Given the description of an element on the screen output the (x, y) to click on. 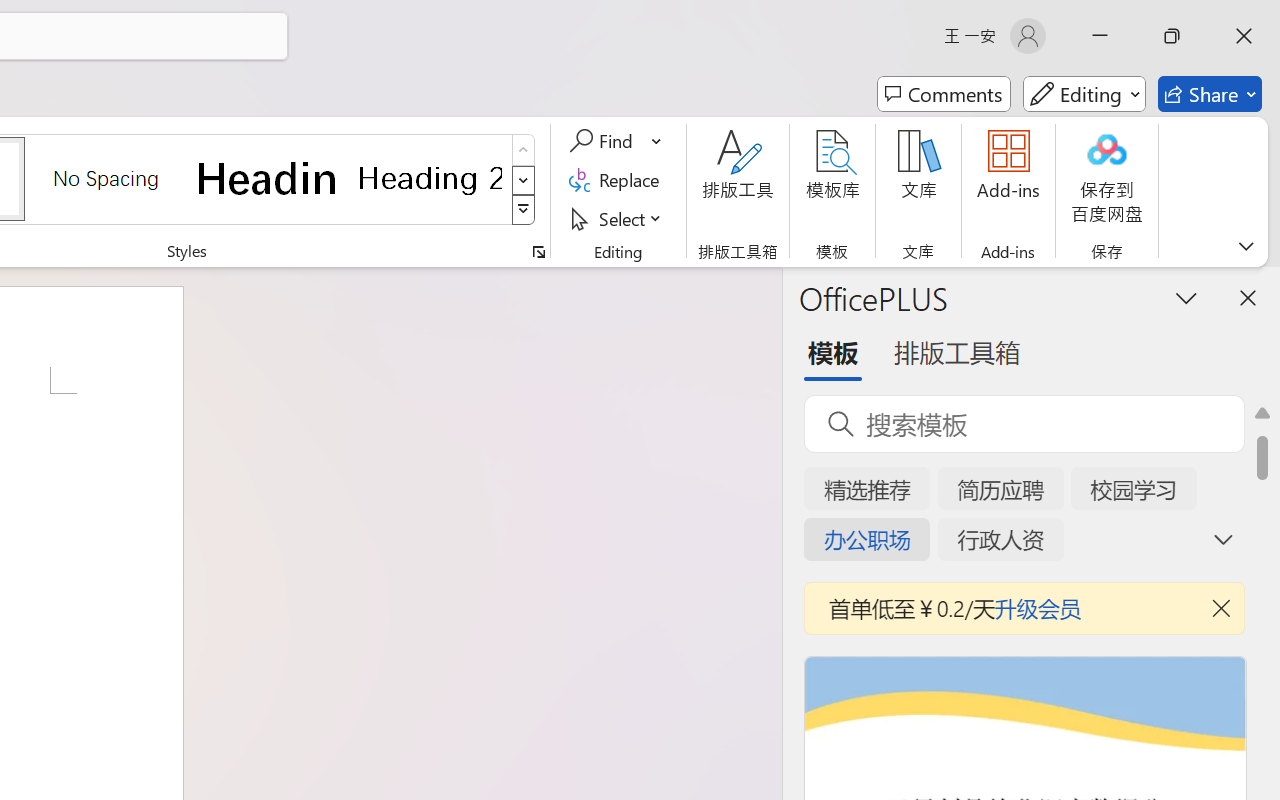
Heading 2 (429, 178)
Select (618, 218)
Close (1244, 36)
More Options (657, 141)
Minimize (1099, 36)
Row Down (523, 180)
Find (616, 141)
Ribbon Display Options (1246, 245)
Restore Down (1172, 36)
